Given the description of an element on the screen output the (x, y) to click on. 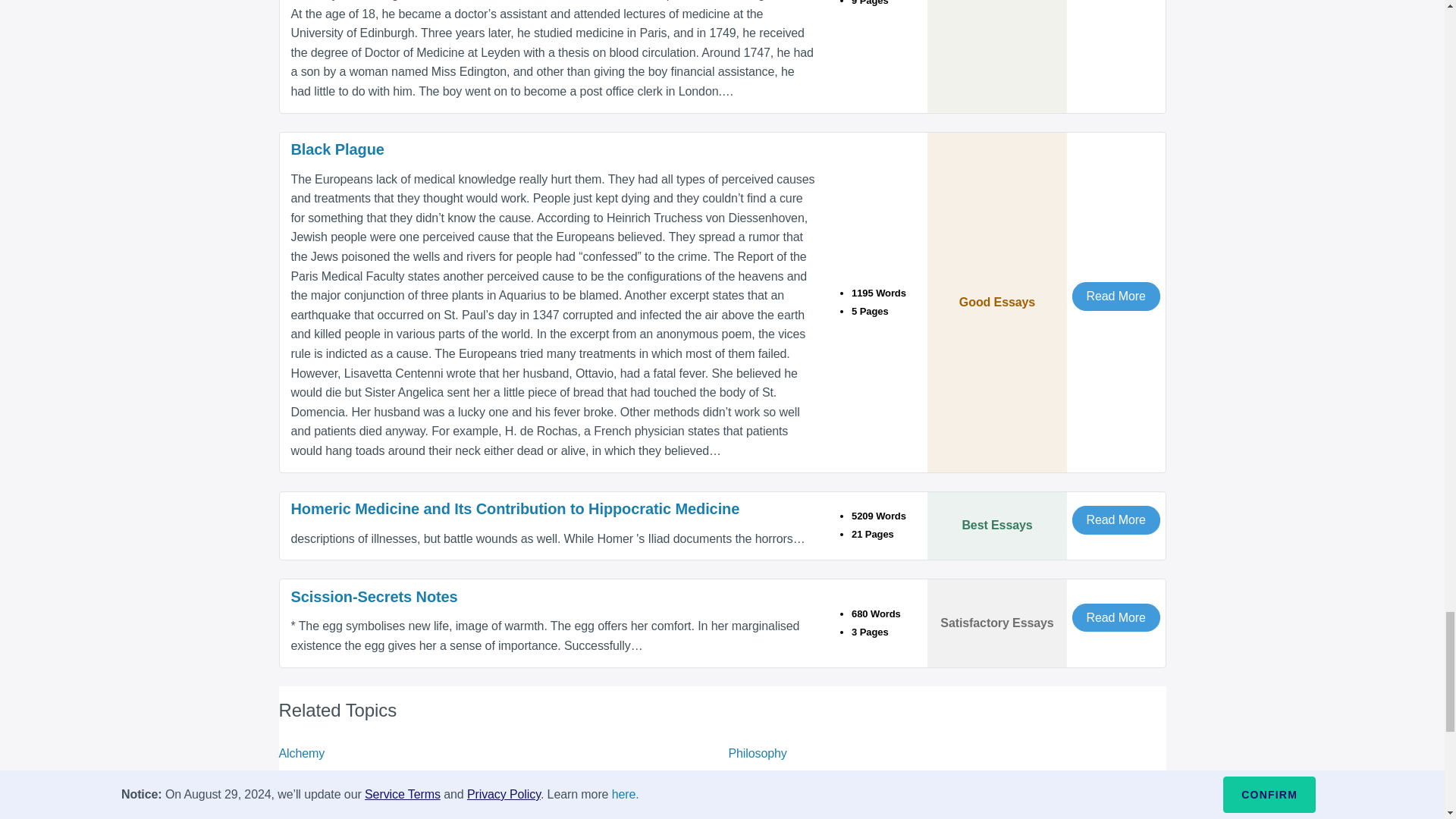
Science (300, 779)
Alchemy (301, 753)
Philosophy (757, 753)
Scientific method (773, 779)
Reason (299, 804)
Mind (741, 804)
